Given the description of an element on the screen output the (x, y) to click on. 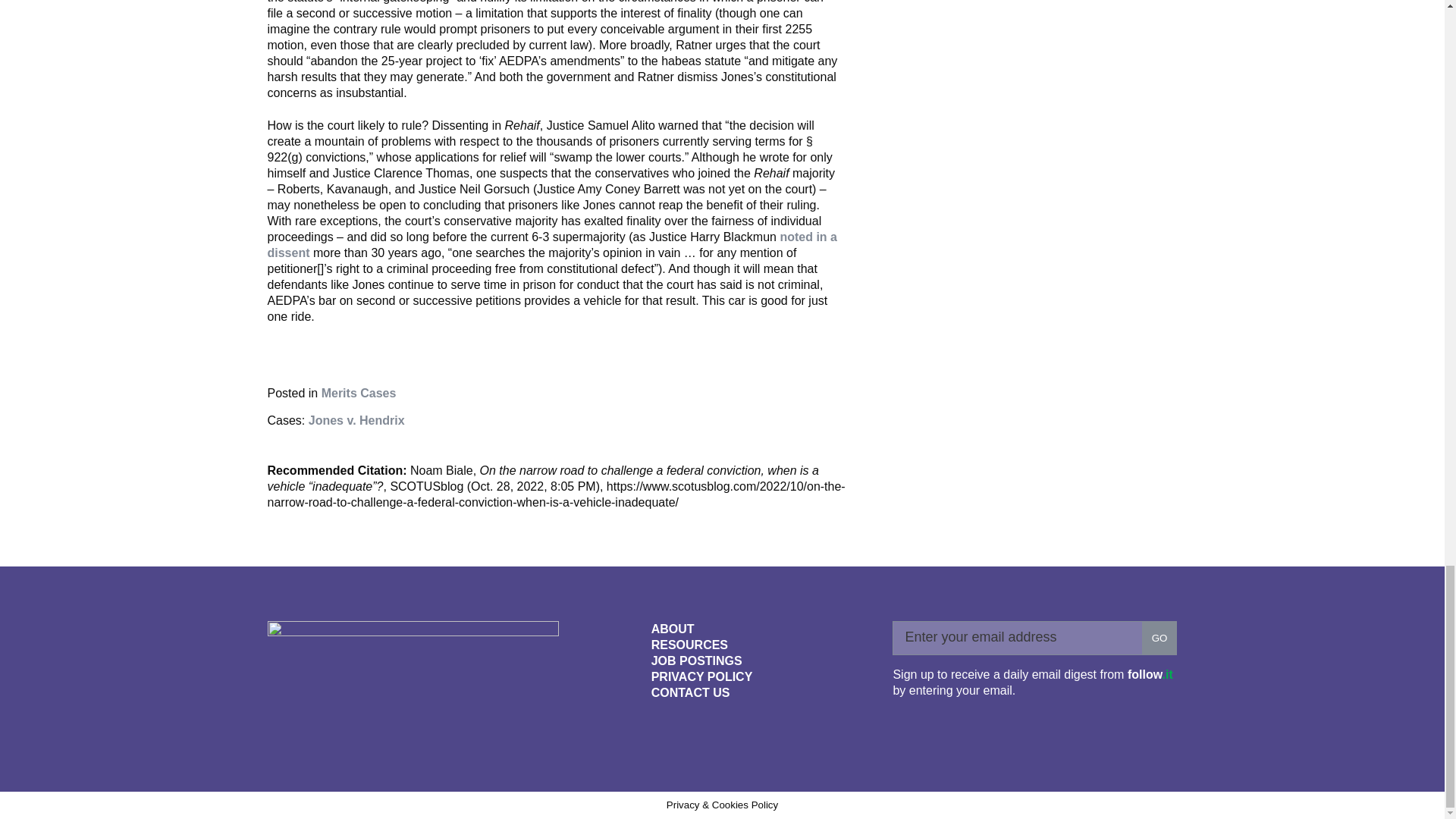
GO (1159, 637)
